Given the description of an element on the screen output the (x, y) to click on. 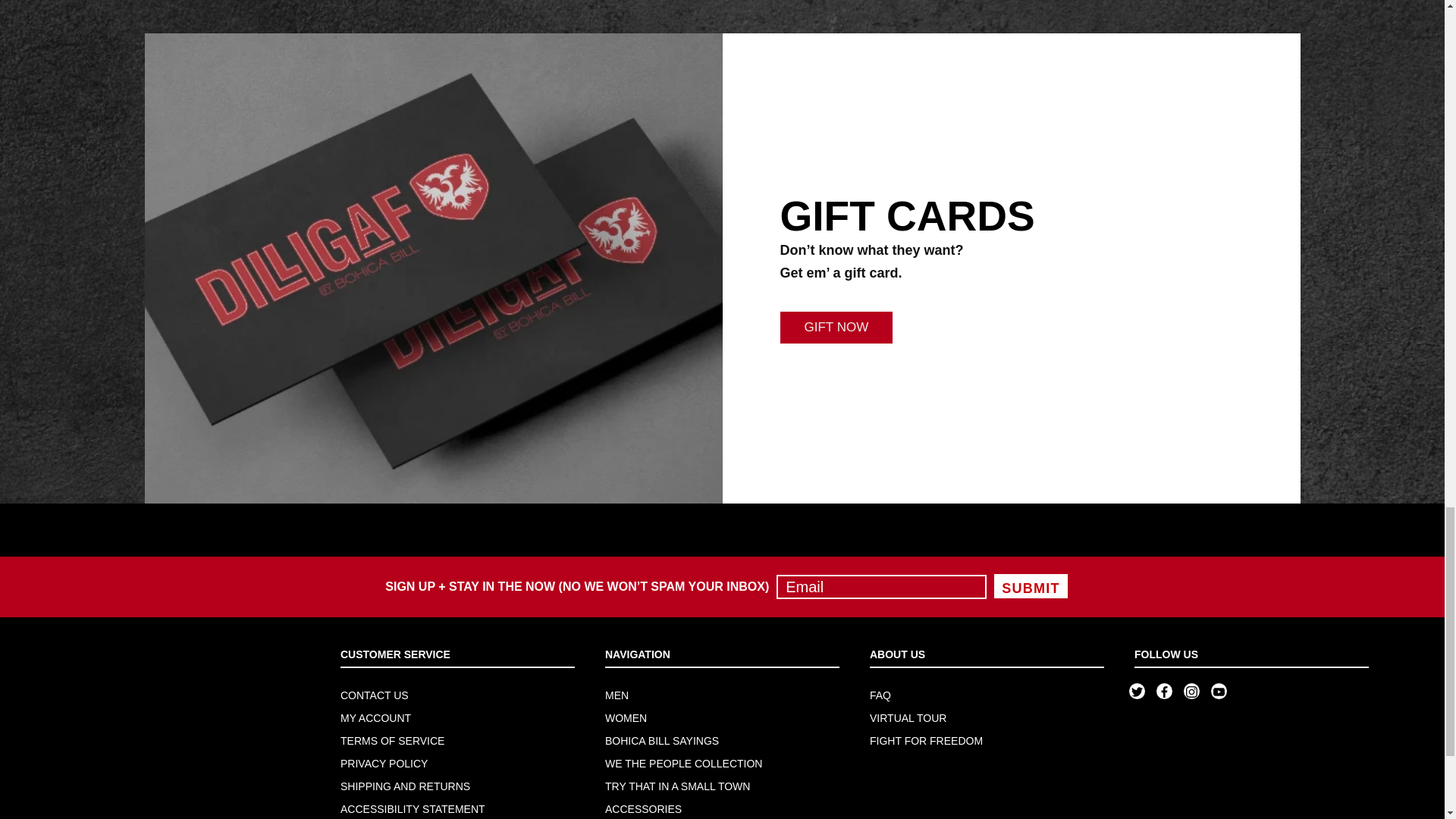
Youtube (1218, 691)
Twitter (1136, 691)
Instagram (1191, 691)
